Given the description of an element on the screen output the (x, y) to click on. 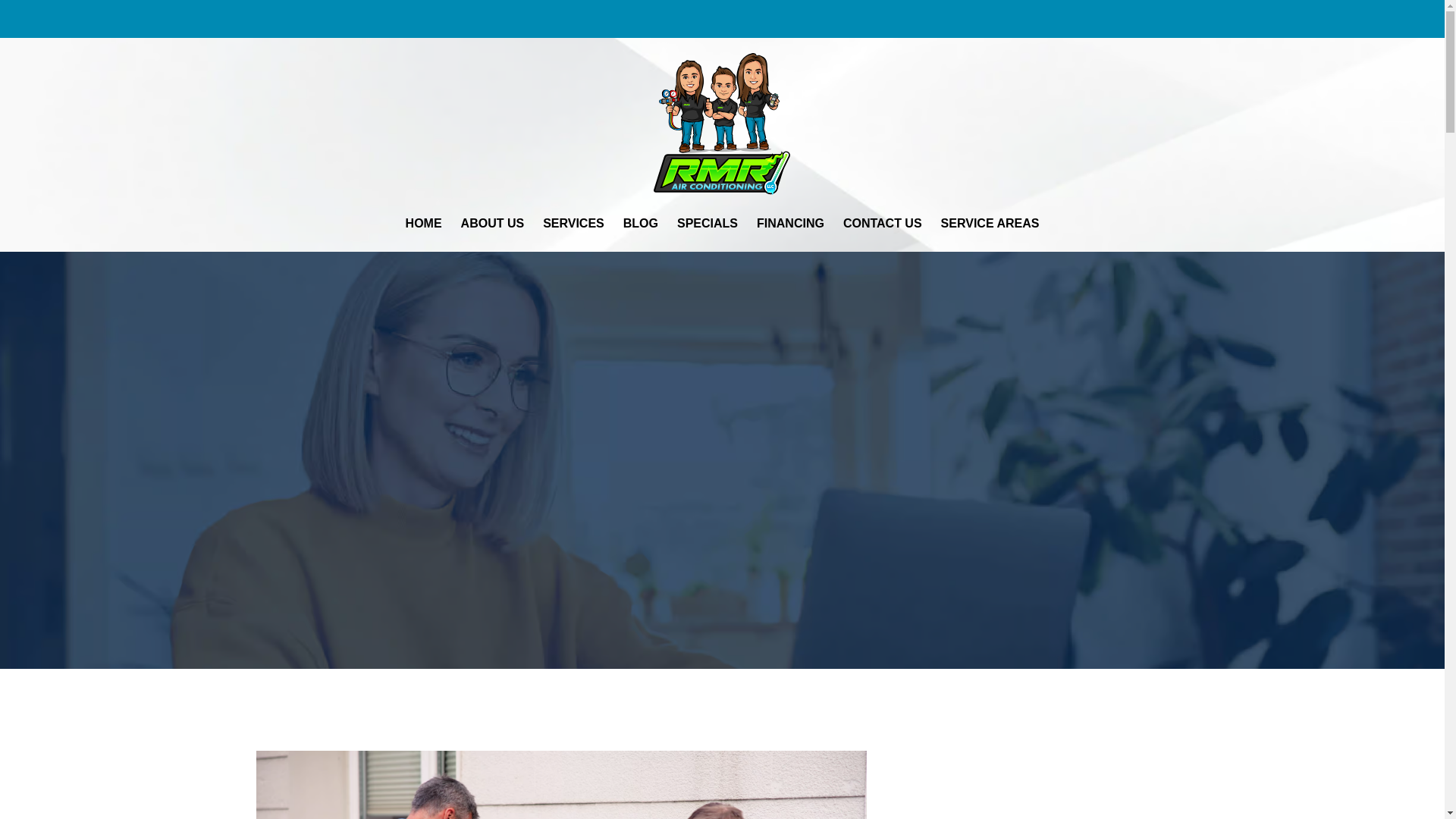
BLOG (641, 223)
SERVICES (573, 223)
ABOUT US (492, 223)
CONTACT US (883, 223)
FINANCING (790, 223)
SPECIALS (706, 223)
HOME (423, 223)
SERVICE AREAS (990, 223)
